Given the description of an element on the screen output the (x, y) to click on. 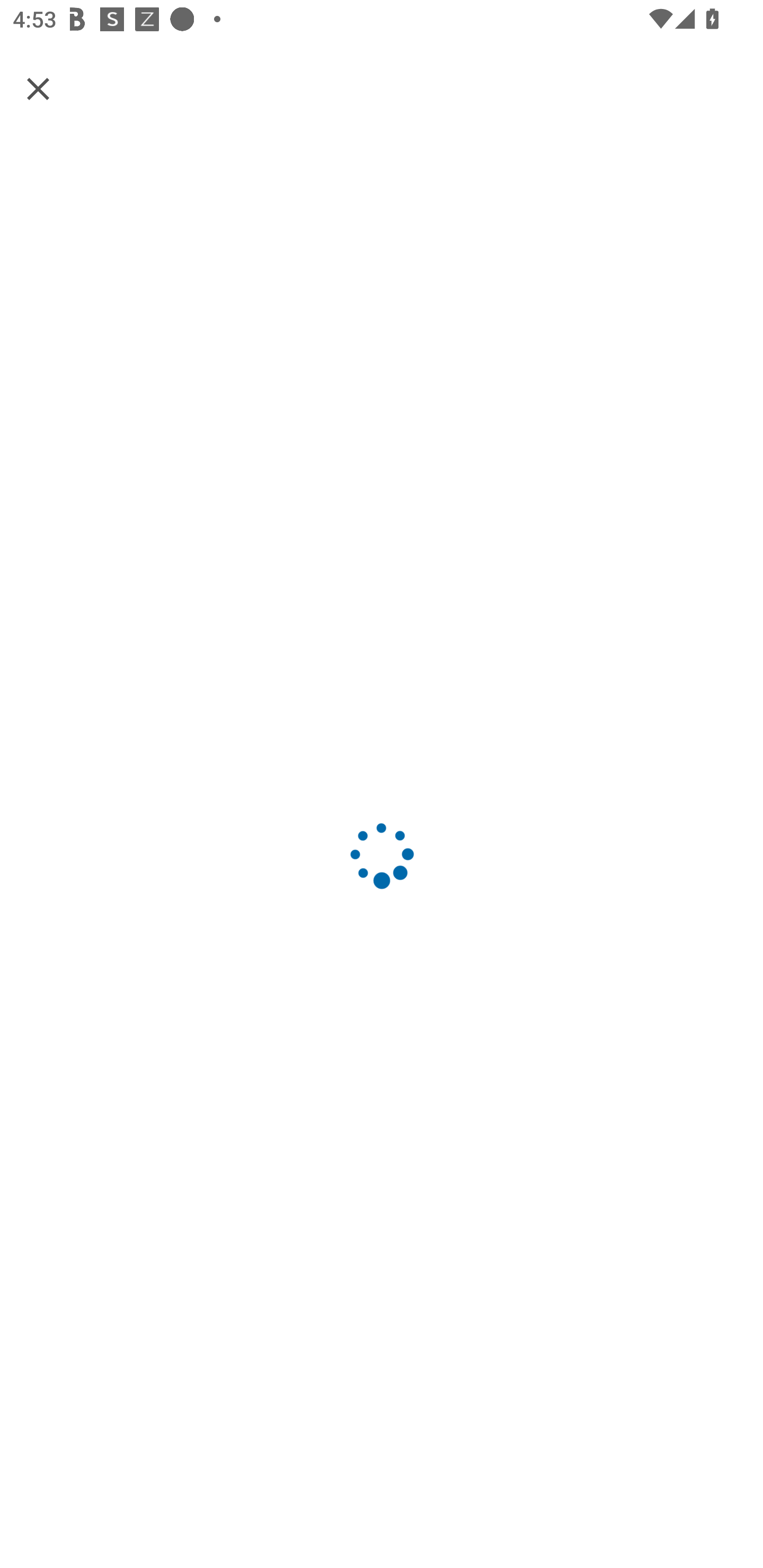
Close (38, 88)
